Given the description of an element on the screen output the (x, y) to click on. 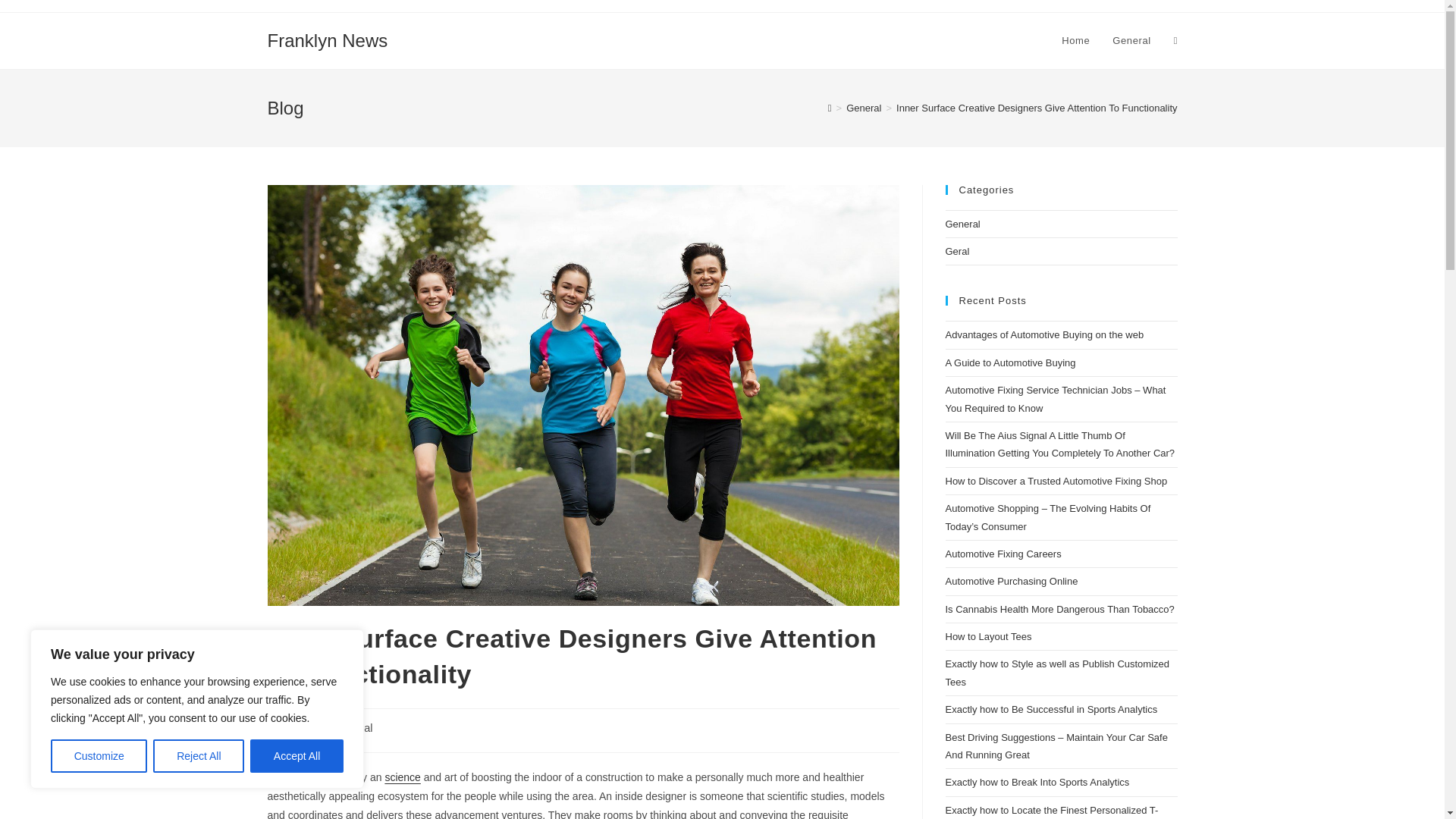
General (352, 727)
Accept All (296, 756)
Customize (98, 756)
General (1130, 40)
Reject All (198, 756)
Franklyn News (326, 40)
General (862, 107)
science (402, 776)
Home (1074, 40)
